Given the description of an element on the screen output the (x, y) to click on. 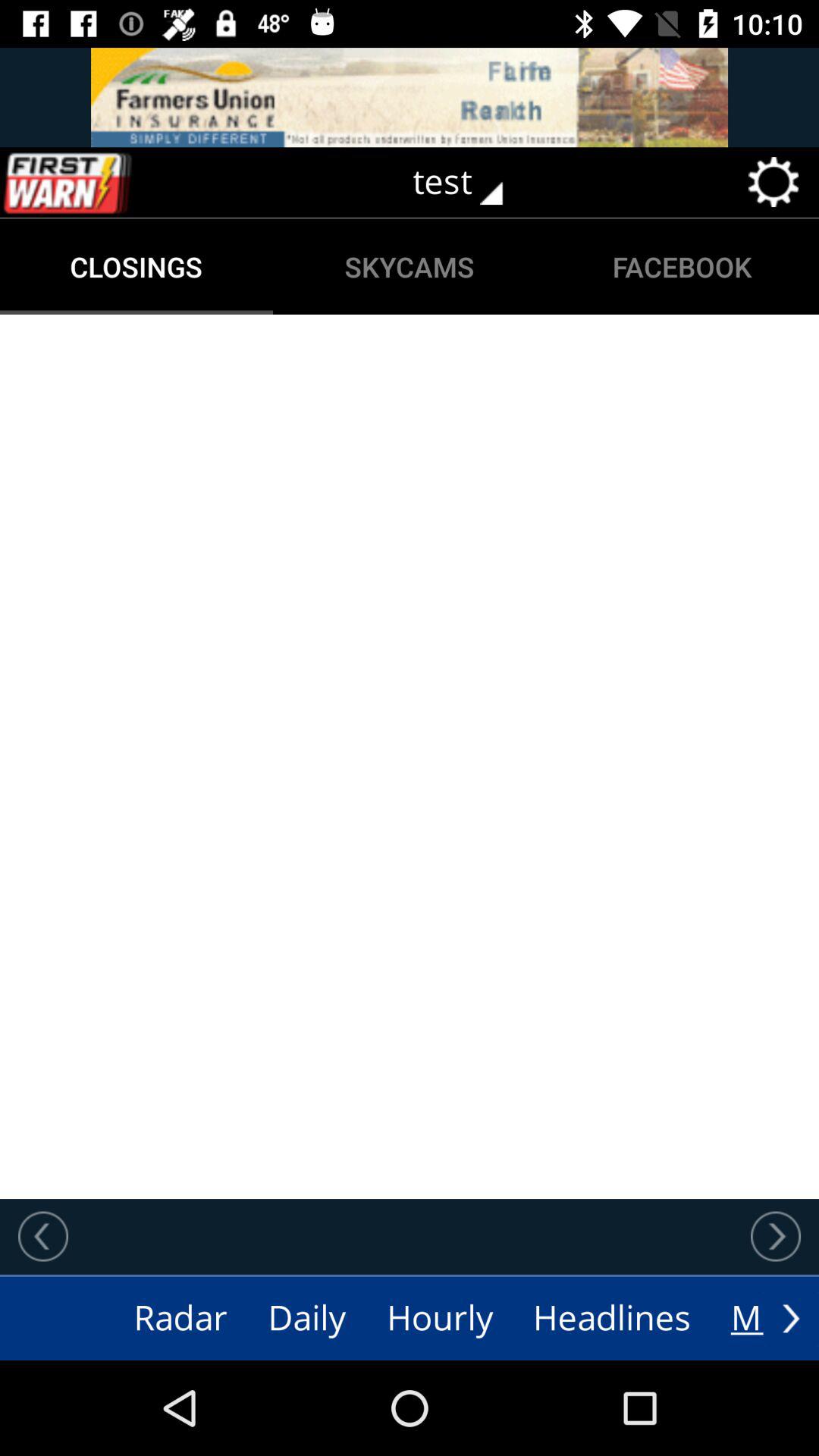
next (775, 1236)
